Given the description of an element on the screen output the (x, y) to click on. 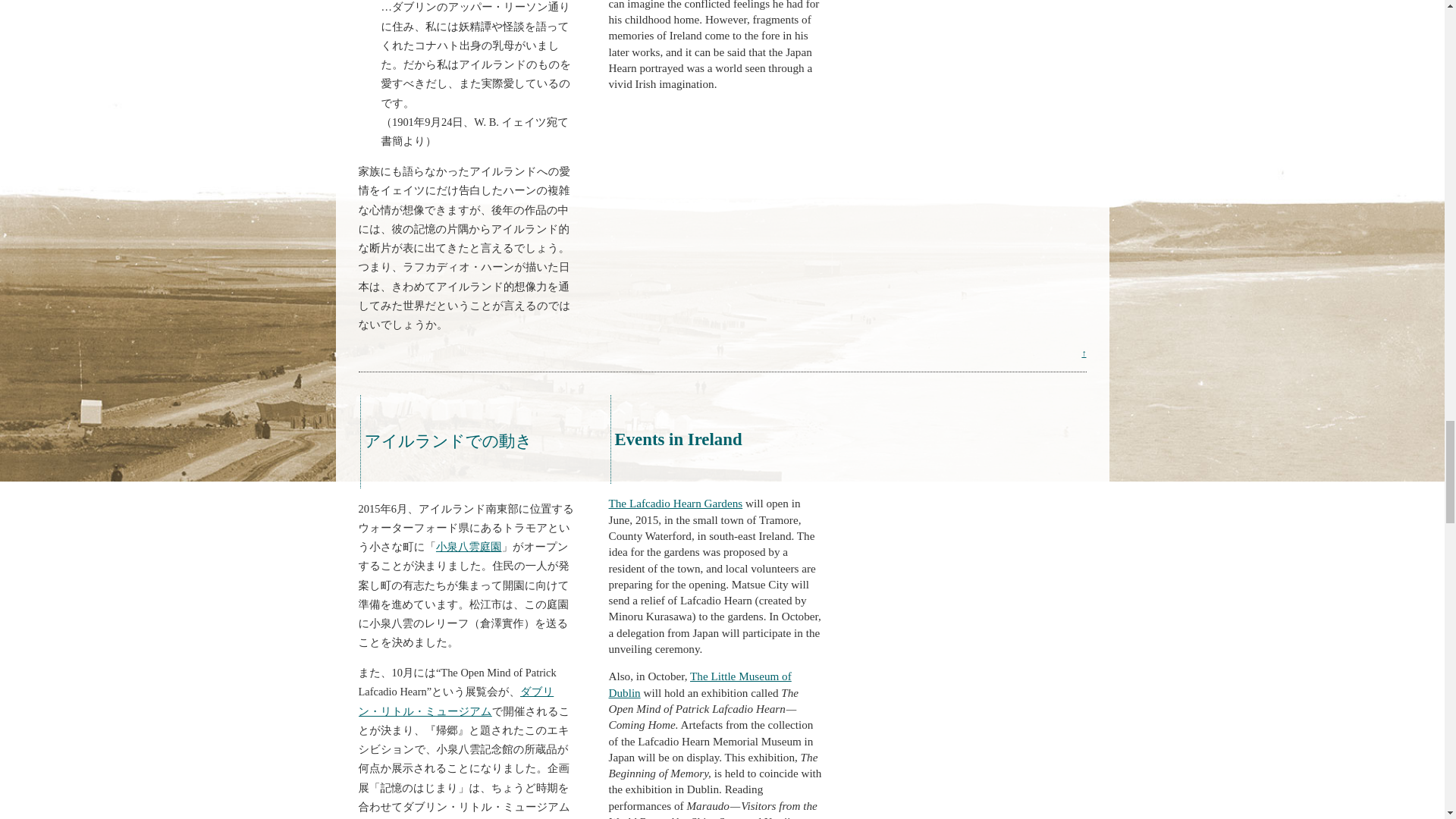
The Little Museum of Dublin (699, 683)
The Lafcadio Hearn Gardens (675, 502)
